Given the description of an element on the screen output the (x, y) to click on. 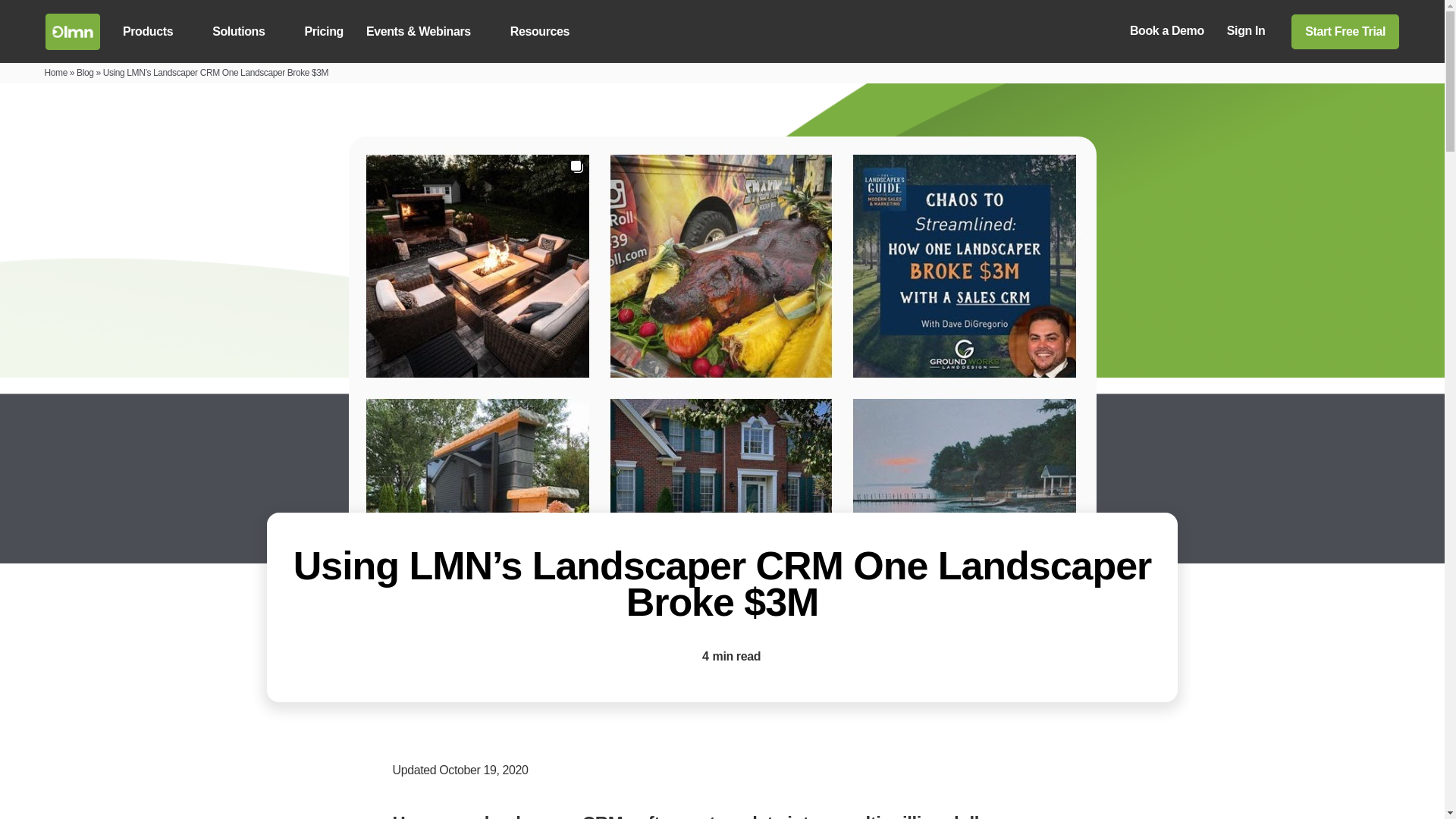
Pricing (323, 31)
October 19, 2020 (483, 769)
Solutions (246, 31)
Resources (548, 31)
Products (155, 31)
